Given the description of an element on the screen output the (x, y) to click on. 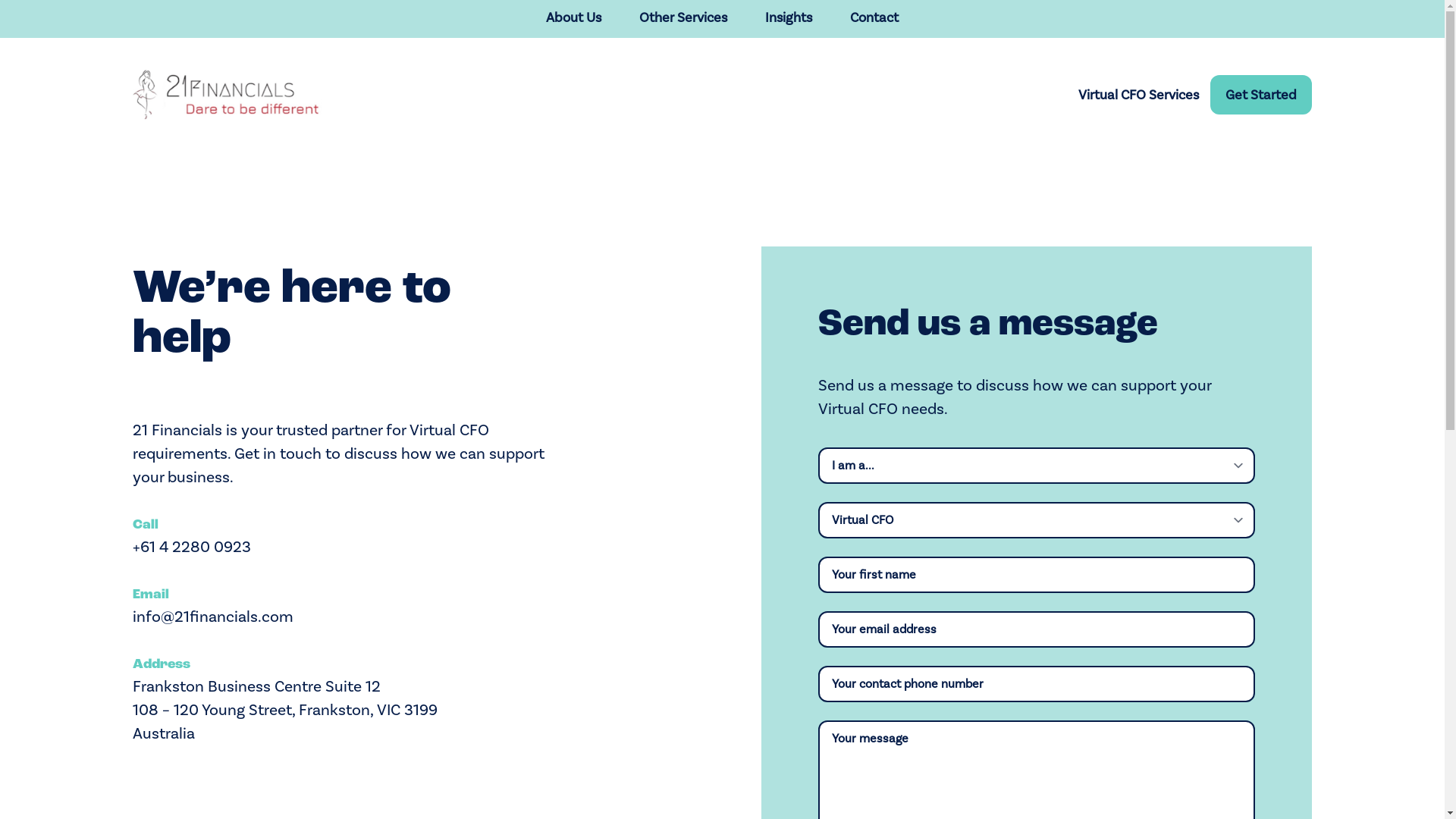
Virtual CFO Services Element type: text (1138, 95)
Get Started Element type: text (1260, 95)
About Us Element type: text (573, 17)
Insights Element type: text (788, 17)
Contact Element type: text (874, 17)
